Given the description of an element on the screen output the (x, y) to click on. 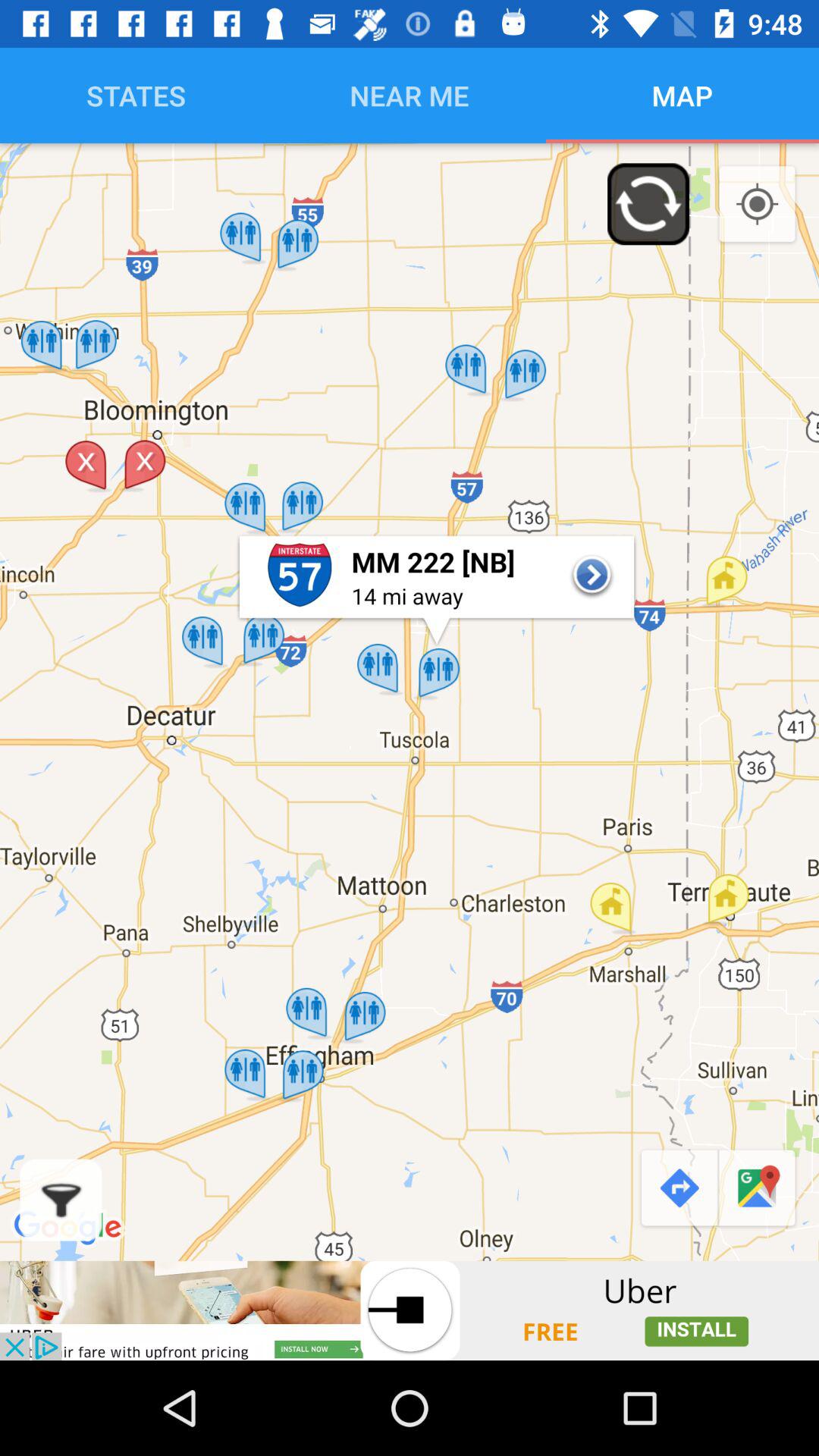
link to an advertiser app (409, 1310)
